Given the description of an element on the screen output the (x, y) to click on. 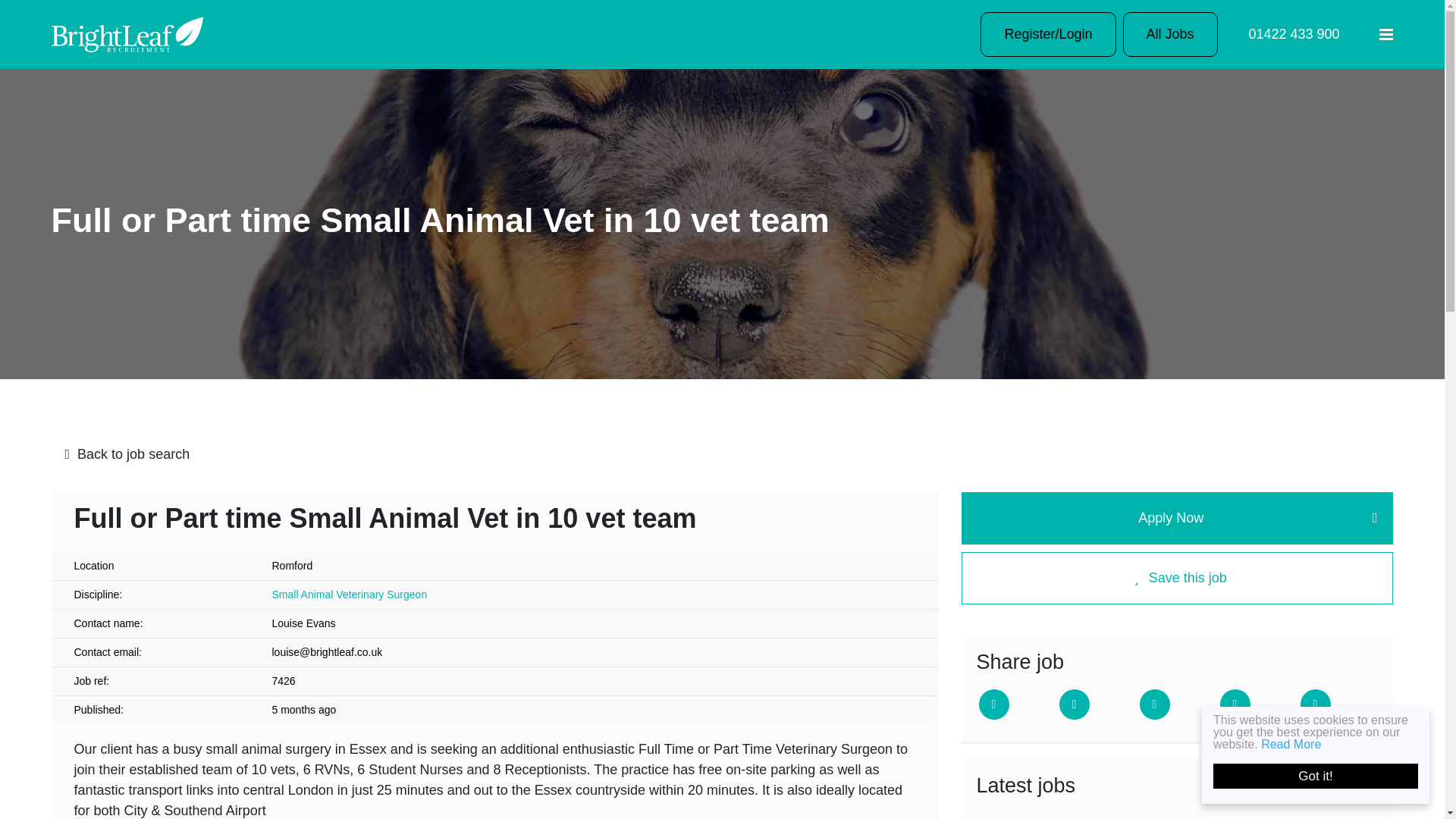
Email (1234, 704)
Tweet this (993, 704)
share on LinkedIn (1153, 704)
send in Whatsapp (1315, 704)
Got it! (1330, 775)
share on Facebook (1073, 704)
Read More (1305, 744)
